Given the description of an element on the screen output the (x, y) to click on. 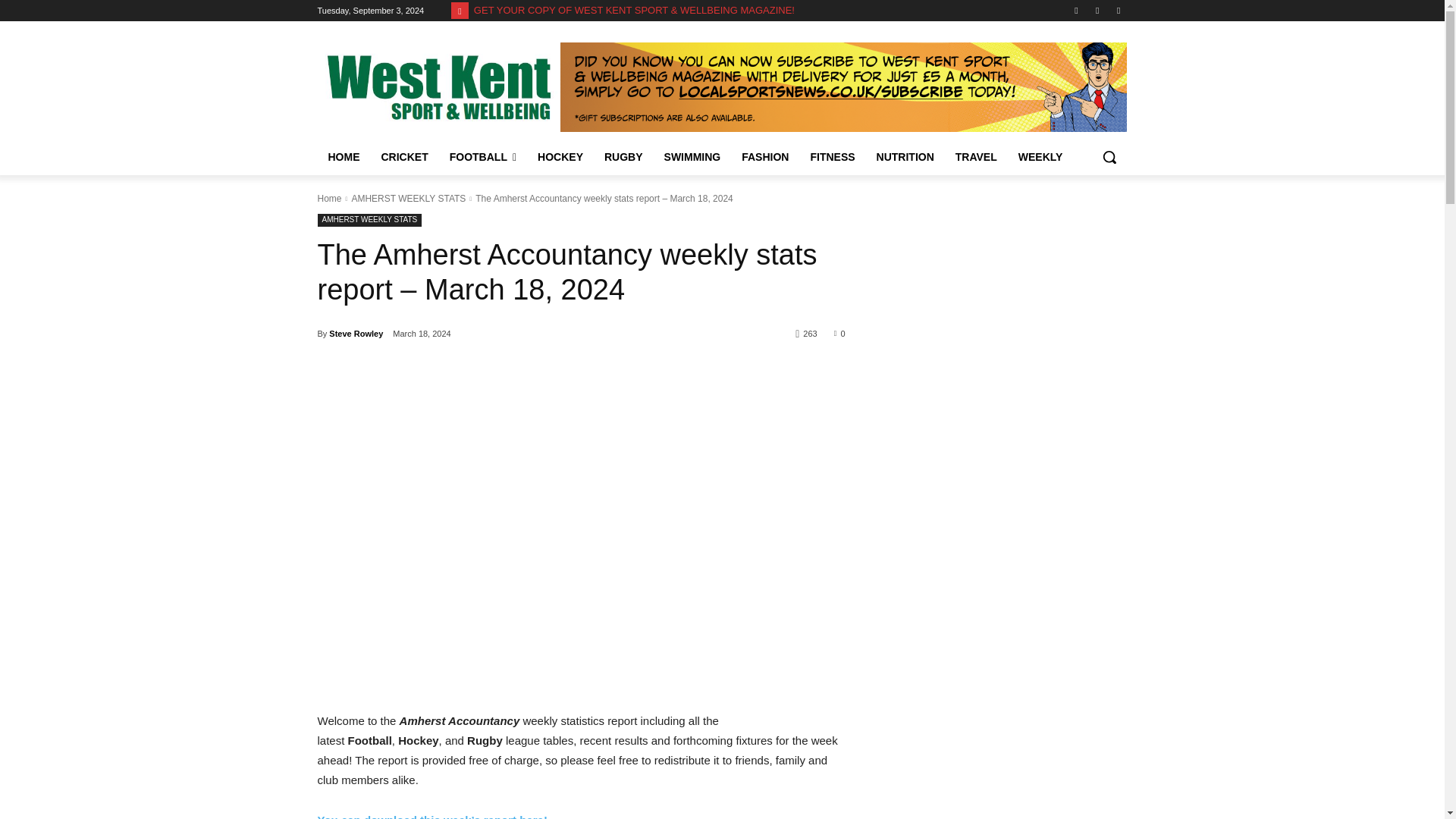
RUGBY (623, 156)
Twitter (1075, 9)
CRICKET (403, 156)
Instagram (1097, 9)
SWIMMING (692, 156)
HOCKEY (560, 156)
HOME (343, 156)
Local Sports News (438, 86)
Facebook (1117, 9)
FOOTBALL (483, 156)
